Given the description of an element on the screen output the (x, y) to click on. 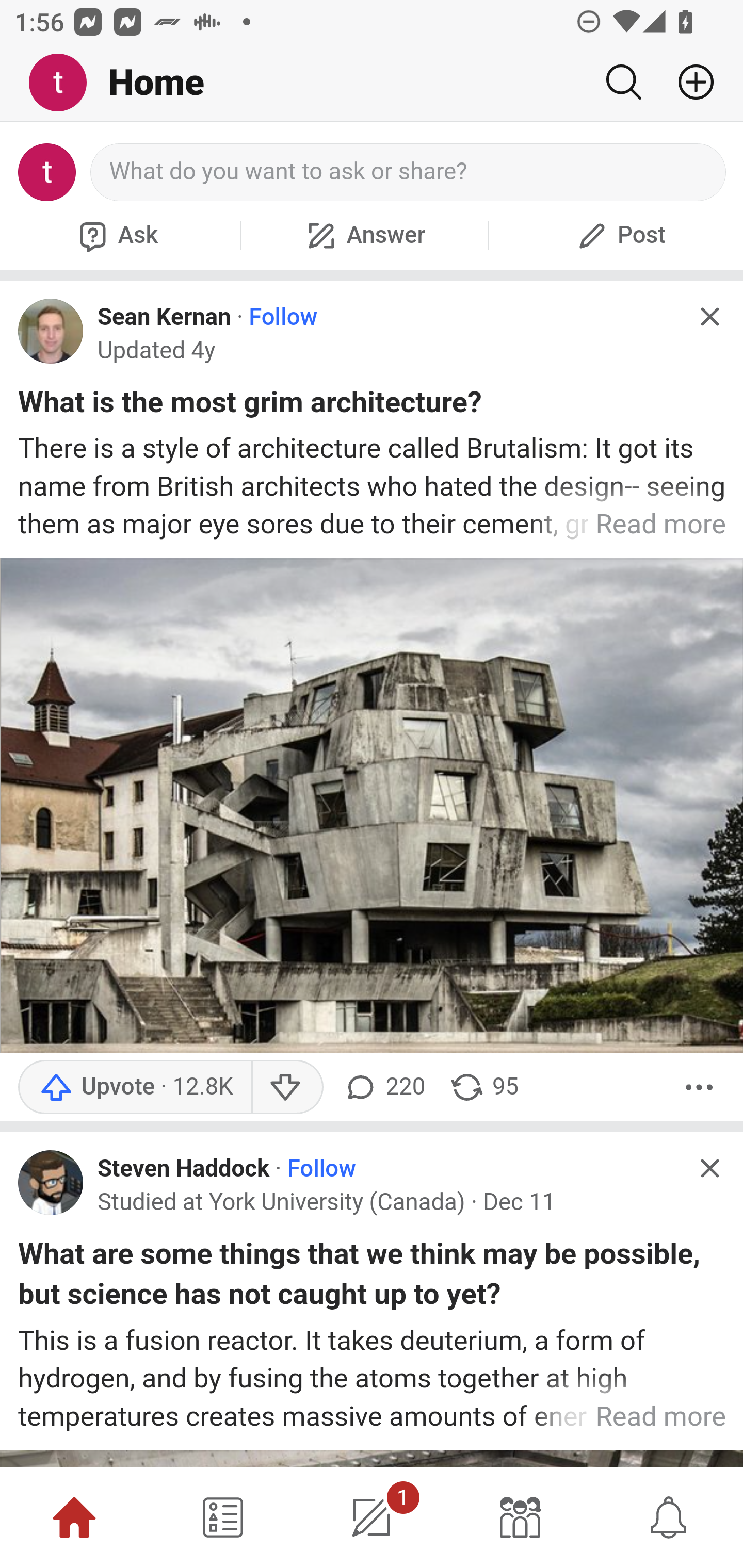
Me Home Search Add (371, 82)
Me (64, 83)
Search (623, 82)
Add (688, 82)
What do you want to ask or share? (408, 172)
Ask (116, 234)
Answer (364, 234)
Post (618, 234)
Hide (709, 316)
Profile photo for Sean Kernan (50, 330)
Sean Kernan (164, 316)
Follow (283, 316)
Updated 4y Updated  4 y (156, 350)
Upvote (134, 1086)
Downvote (287, 1086)
220 comments (383, 1086)
95 shares (483, 1086)
More (699, 1086)
Hide (709, 1167)
Profile photo for Steven Haddock (50, 1182)
Steven Haddock (184, 1168)
Follow (321, 1168)
Dec 11 (519, 1202)
1 (371, 1517)
